Given the description of an element on the screen output the (x, y) to click on. 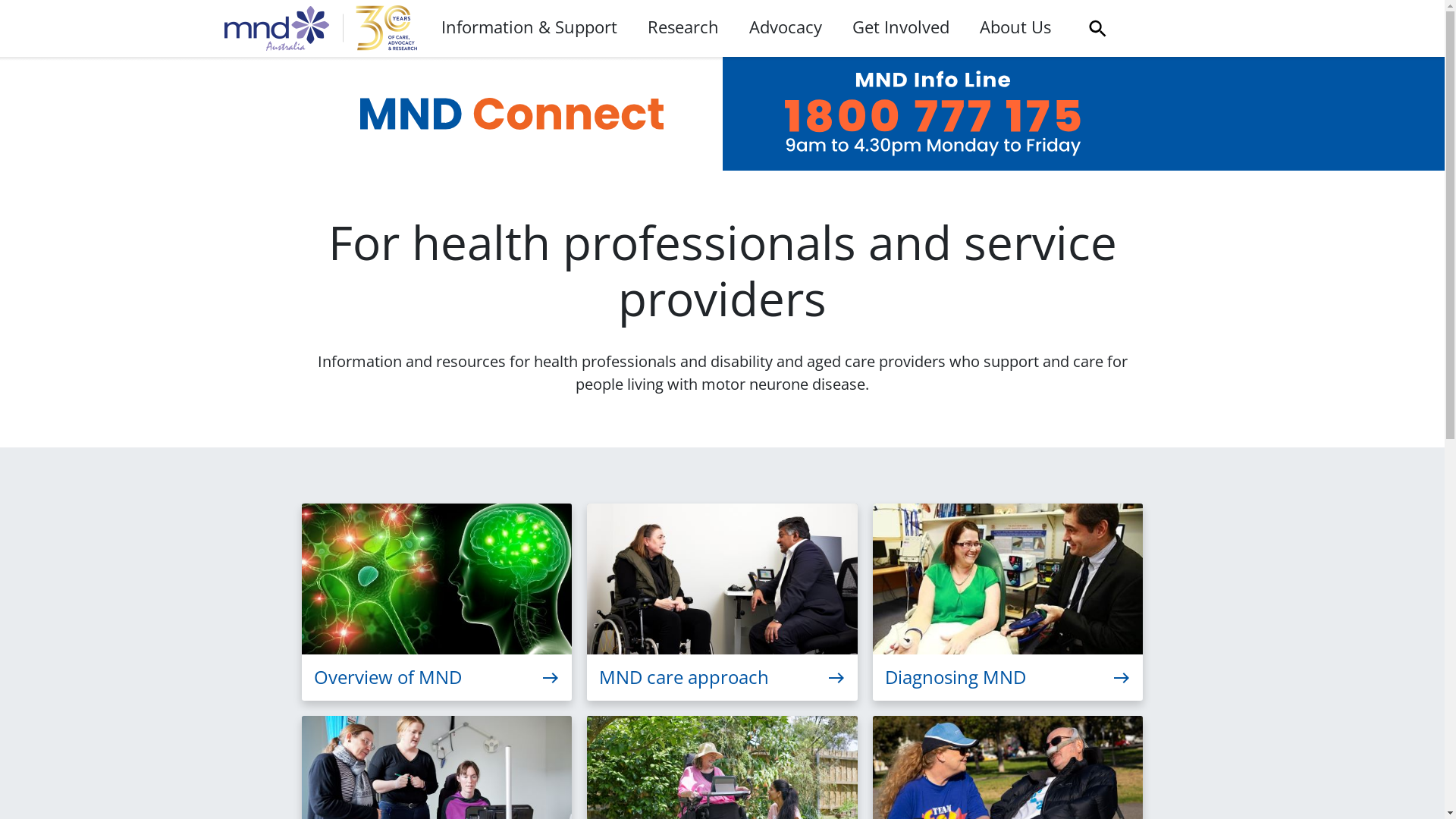
Diagnosing MND Element type: text (1007, 602)
Search Element type: text (1097, 28)
Advocacy Element type: text (785, 28)
Information & Support Element type: text (529, 28)
Research Element type: text (682, 28)
Overview of MND Element type: text (436, 602)
Get Involved Element type: text (900, 28)
About Us Element type: text (1015, 28)
MND care approach Element type: text (721, 602)
